Given the description of an element on the screen output the (x, y) to click on. 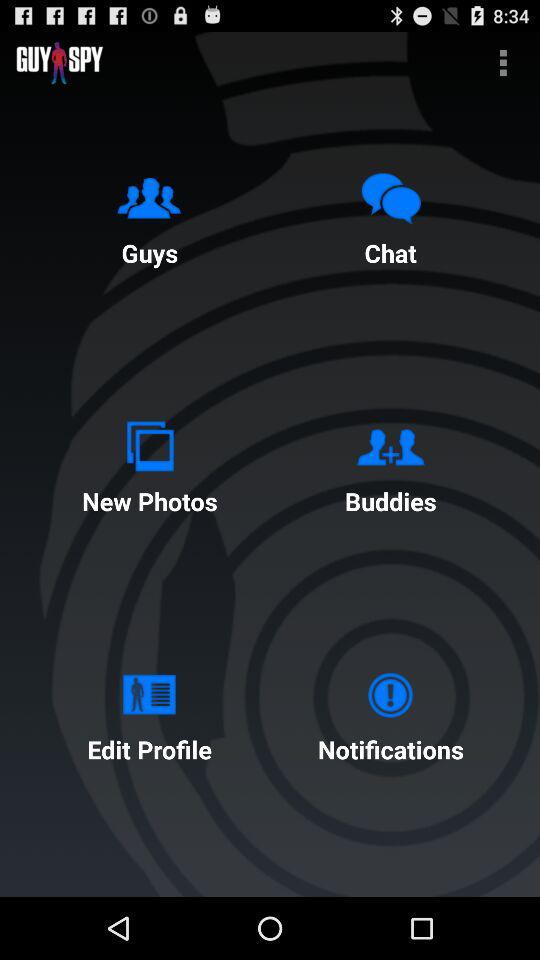
turn on the button above the chat (503, 62)
